Given the description of an element on the screen output the (x, y) to click on. 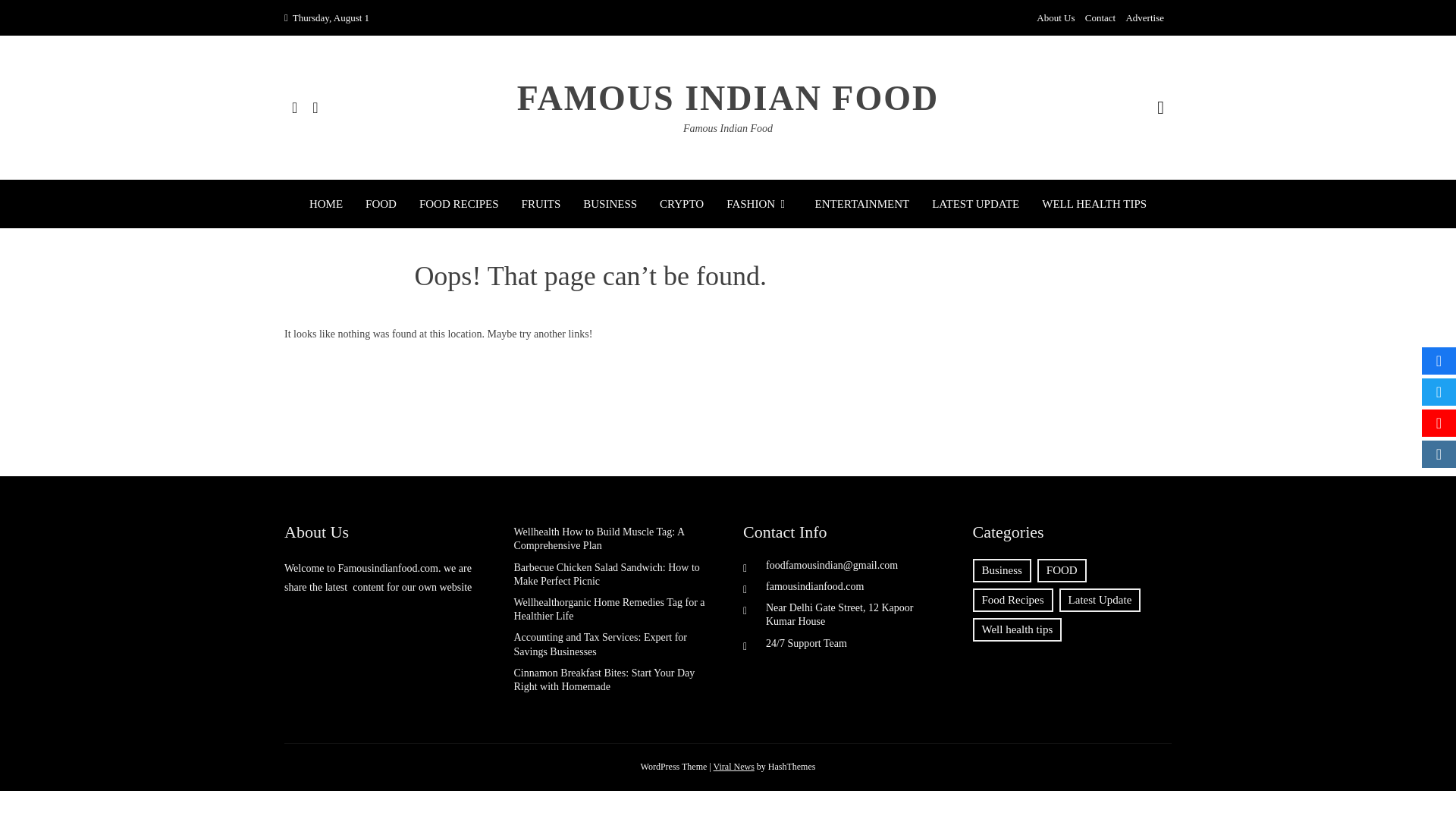
Well health tips (1016, 629)
Food Recipes (1012, 599)
HOME (325, 203)
Contact (1099, 17)
Latest Update (1100, 599)
FOOD (380, 203)
Famous Indian Food (727, 128)
FOOD (1061, 570)
Download Viral News (733, 766)
Advertise (1144, 17)
ENTERTAINMENT (862, 203)
FASHION (759, 203)
Wellhealth How to Build Muscle Tag: A Comprehensive Plan (598, 538)
WELL HEALTH TIPS (1094, 203)
Accounting and Tax Services: Expert for Savings Businesses (600, 643)
